Given the description of an element on the screen output the (x, y) to click on. 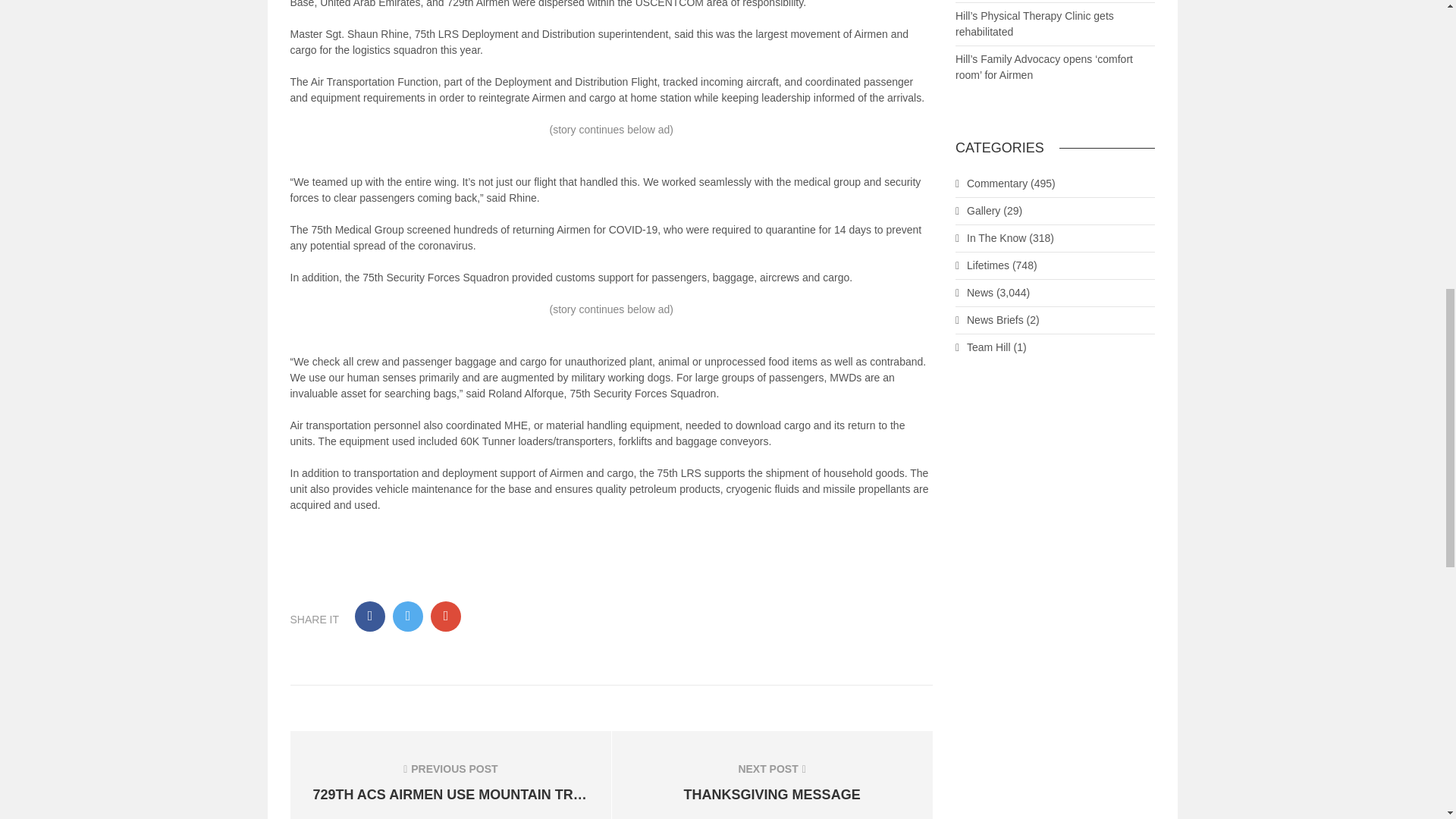
Share on Facebook (370, 616)
Share on Twitter (408, 616)
Share on Google Plus (445, 616)
